Given the description of an element on the screen output the (x, y) to click on. 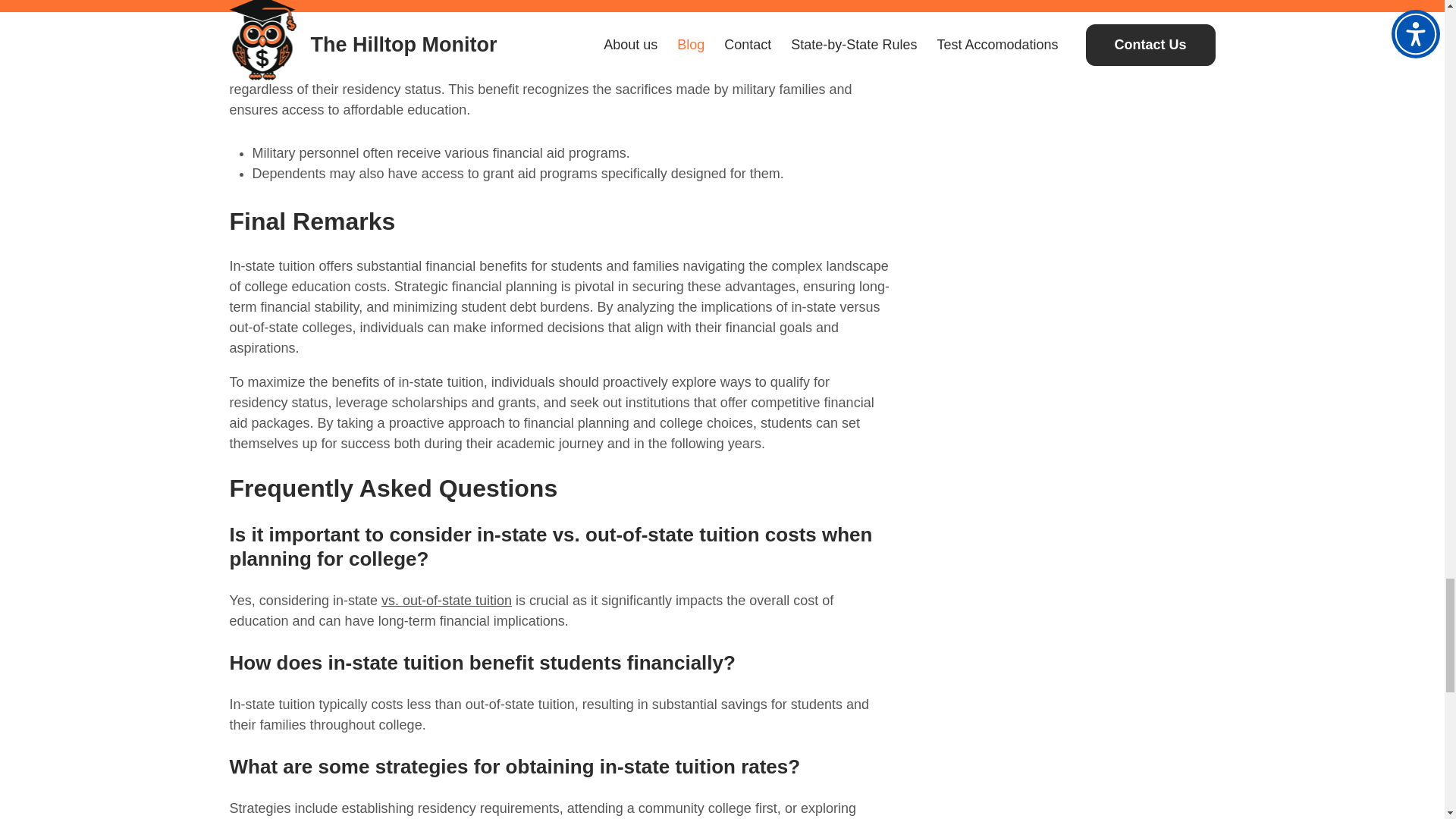
vs. out-of-state tuition (446, 600)
